Given the description of an element on the screen output the (x, y) to click on. 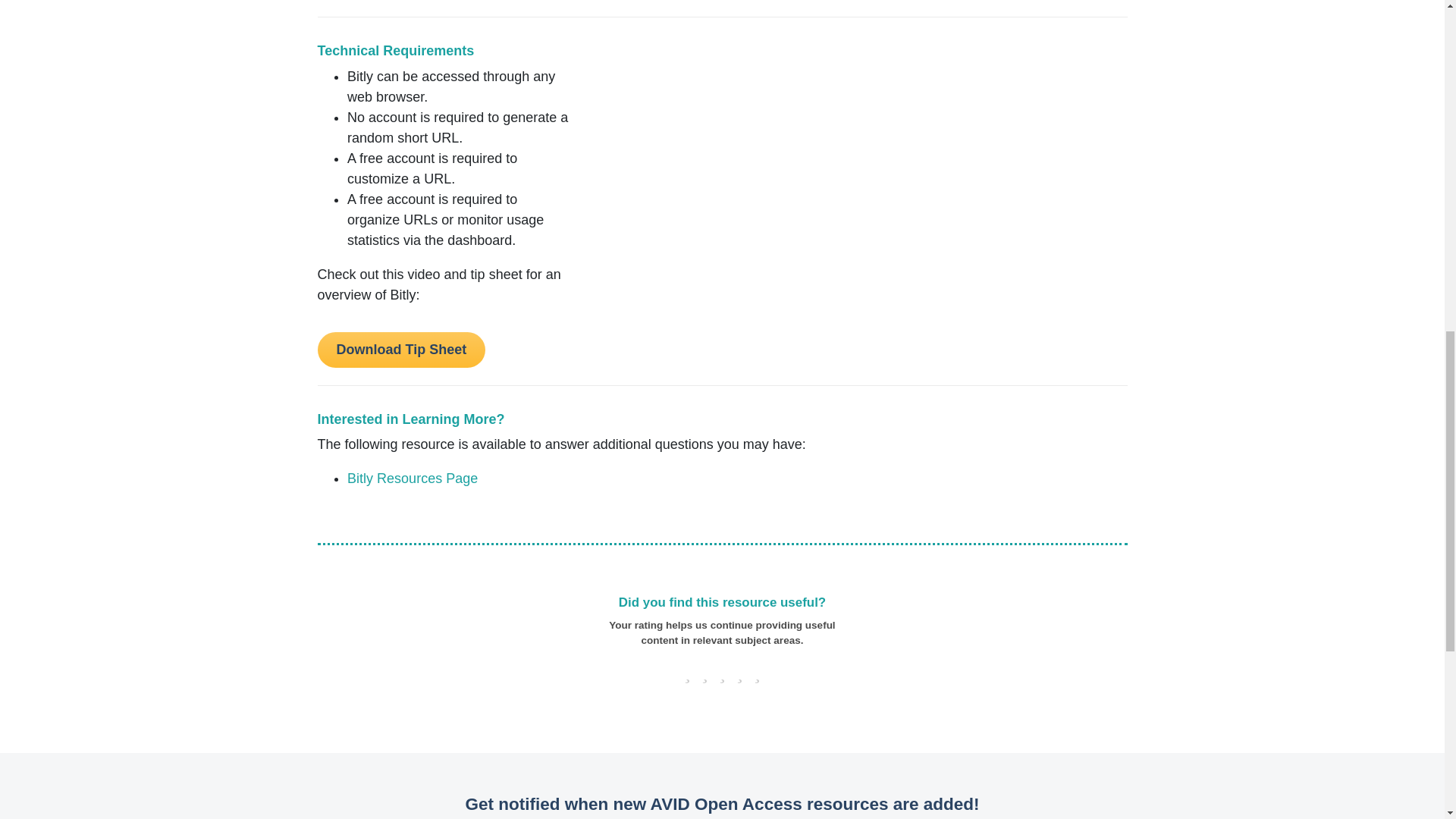
Download Tip Sheet (400, 349)
Bitly Resources Page (412, 478)
